Given the description of an element on the screen output the (x, y) to click on. 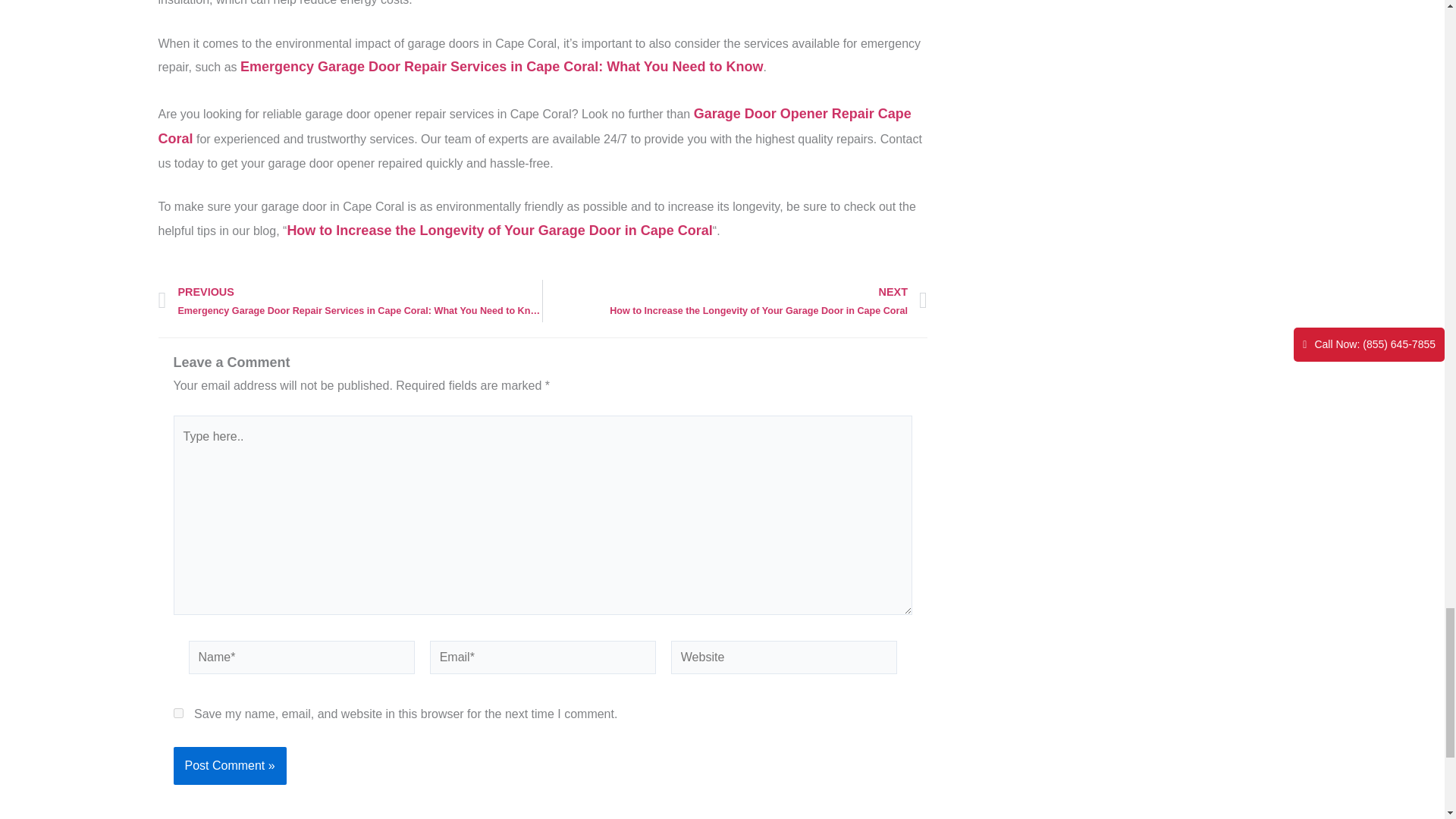
Garage Door Opener Repair Cape Coral (534, 126)
yes (178, 713)
